Given the description of an element on the screen output the (x, y) to click on. 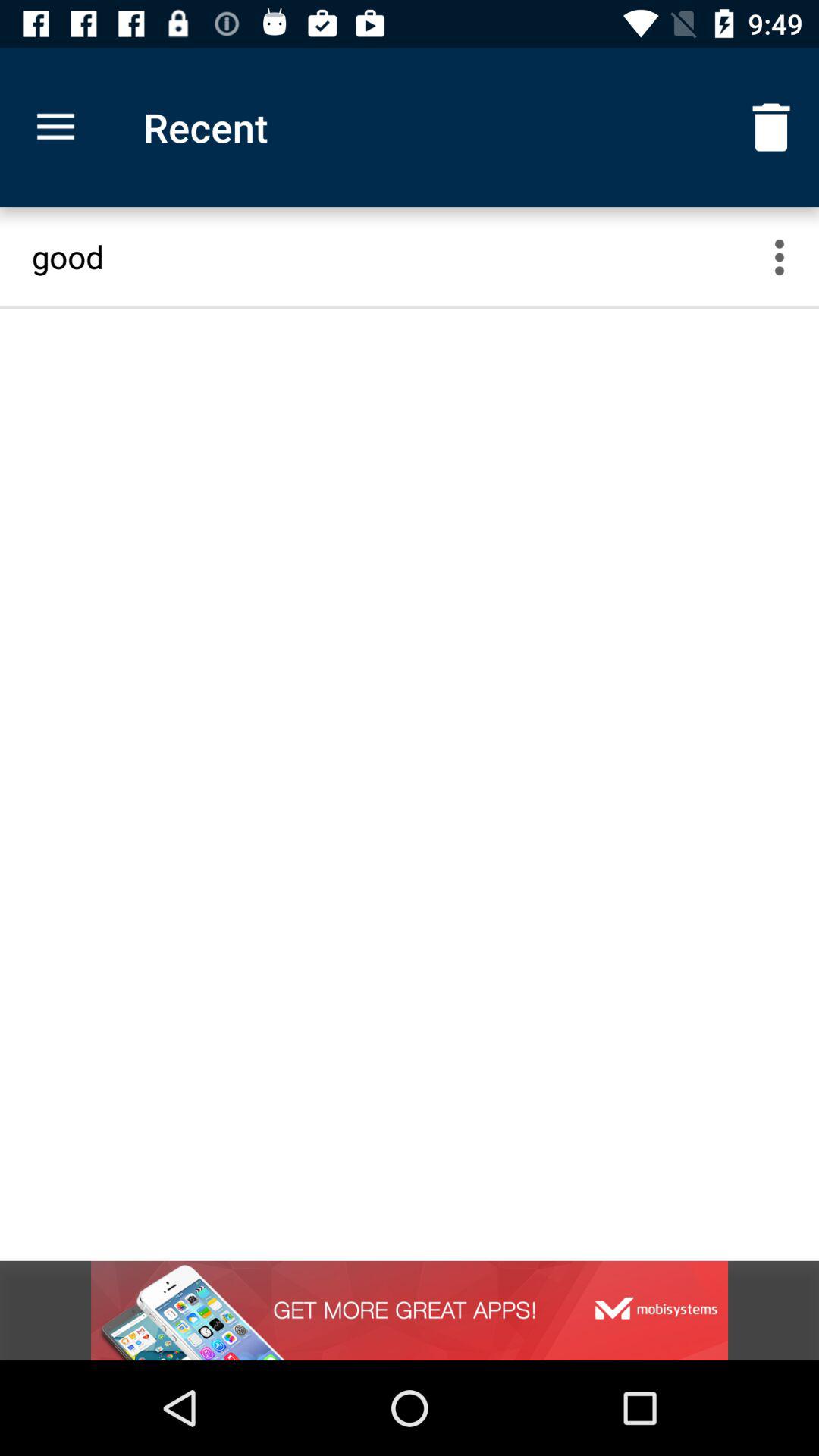
select item to the right of recent item (771, 127)
